Given the description of an element on the screen output the (x, y) to click on. 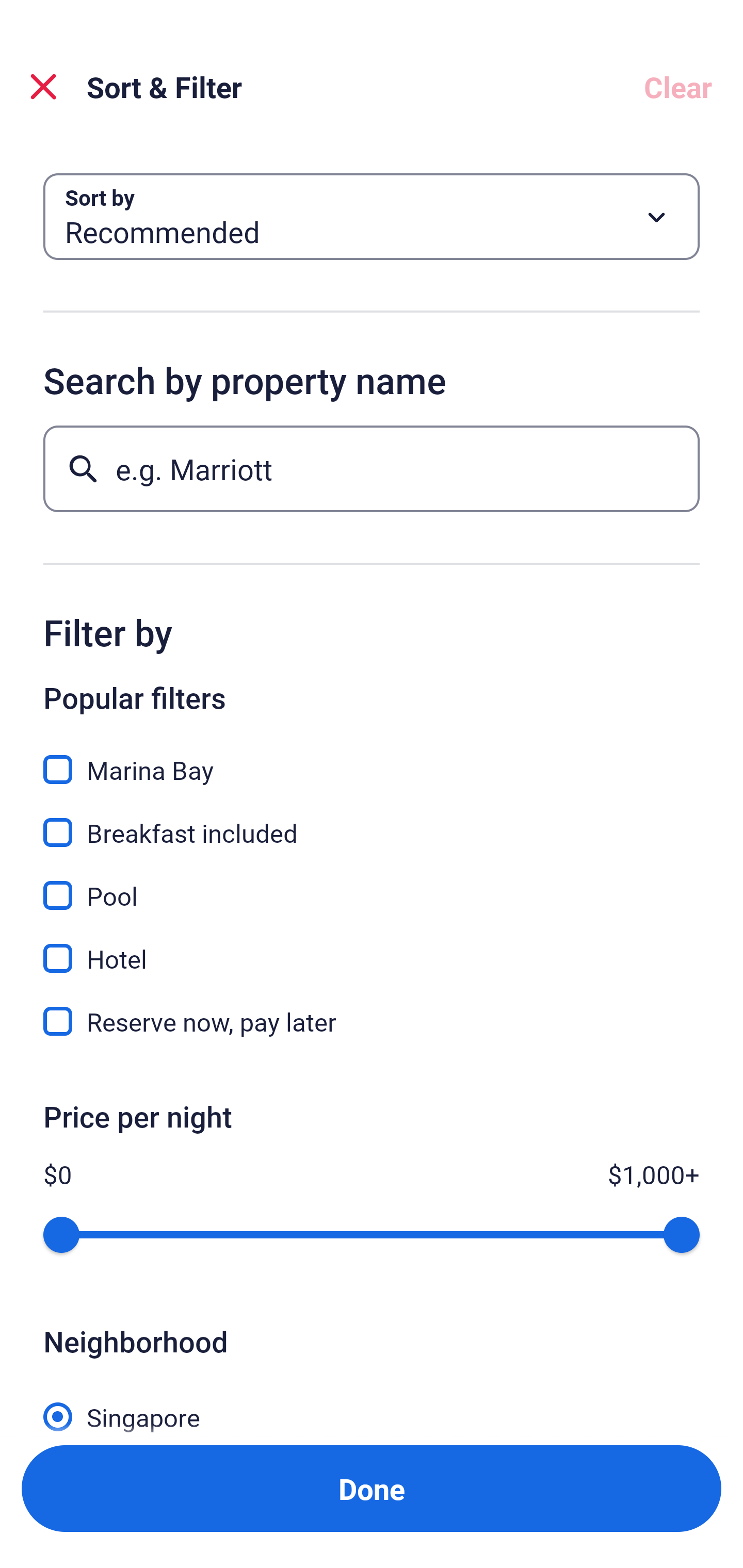
Close Sort and Filter (43, 86)
Clear (677, 86)
Sort by Button Recommended (371, 217)
e.g. Marriott Button (371, 468)
Marina Bay, Marina Bay (371, 757)
Breakfast included, Breakfast included (371, 821)
Pool, Pool (371, 883)
Hotel, Hotel (371, 946)
Reserve now, pay later, Reserve now, pay later (371, 1021)
Apply and close Sort and Filter Done (371, 1488)
